Given the description of an element on the screen output the (x, y) to click on. 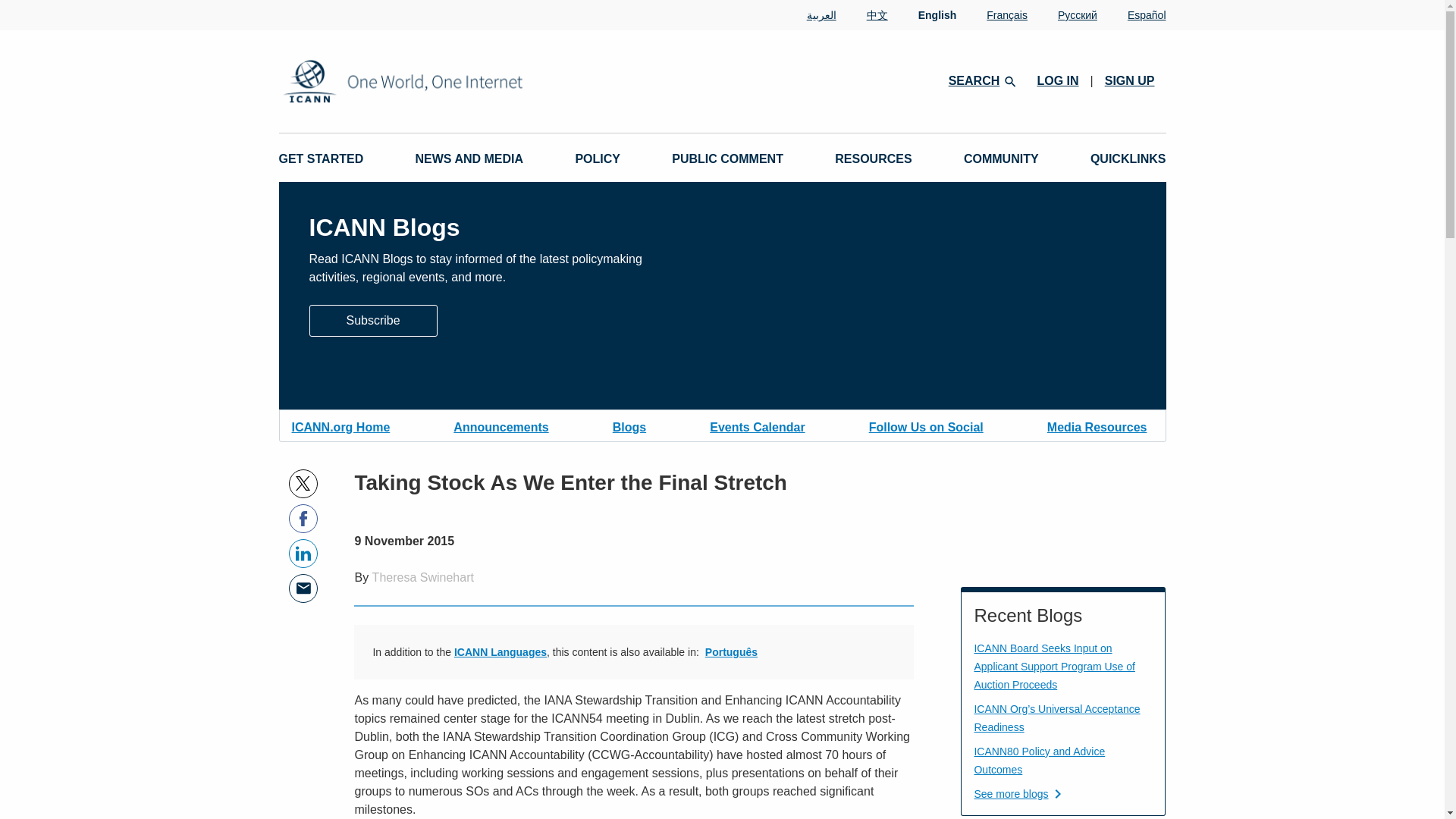
Blogs (629, 425)
Subscribe (373, 320)
Events Calendar (757, 425)
Announcements (500, 425)
PUBLIC COMMENT (727, 158)
COMMUNITY (1001, 158)
LOG IN (1057, 81)
SEARCH (981, 79)
Logo (452, 81)
GET STARTED (321, 158)
Subscribe (373, 318)
POLICY (597, 158)
QUICKLINKS (1128, 158)
NEWS AND MEDIA (469, 158)
Follow Us on Social (926, 425)
